Given the description of an element on the screen output the (x, y) to click on. 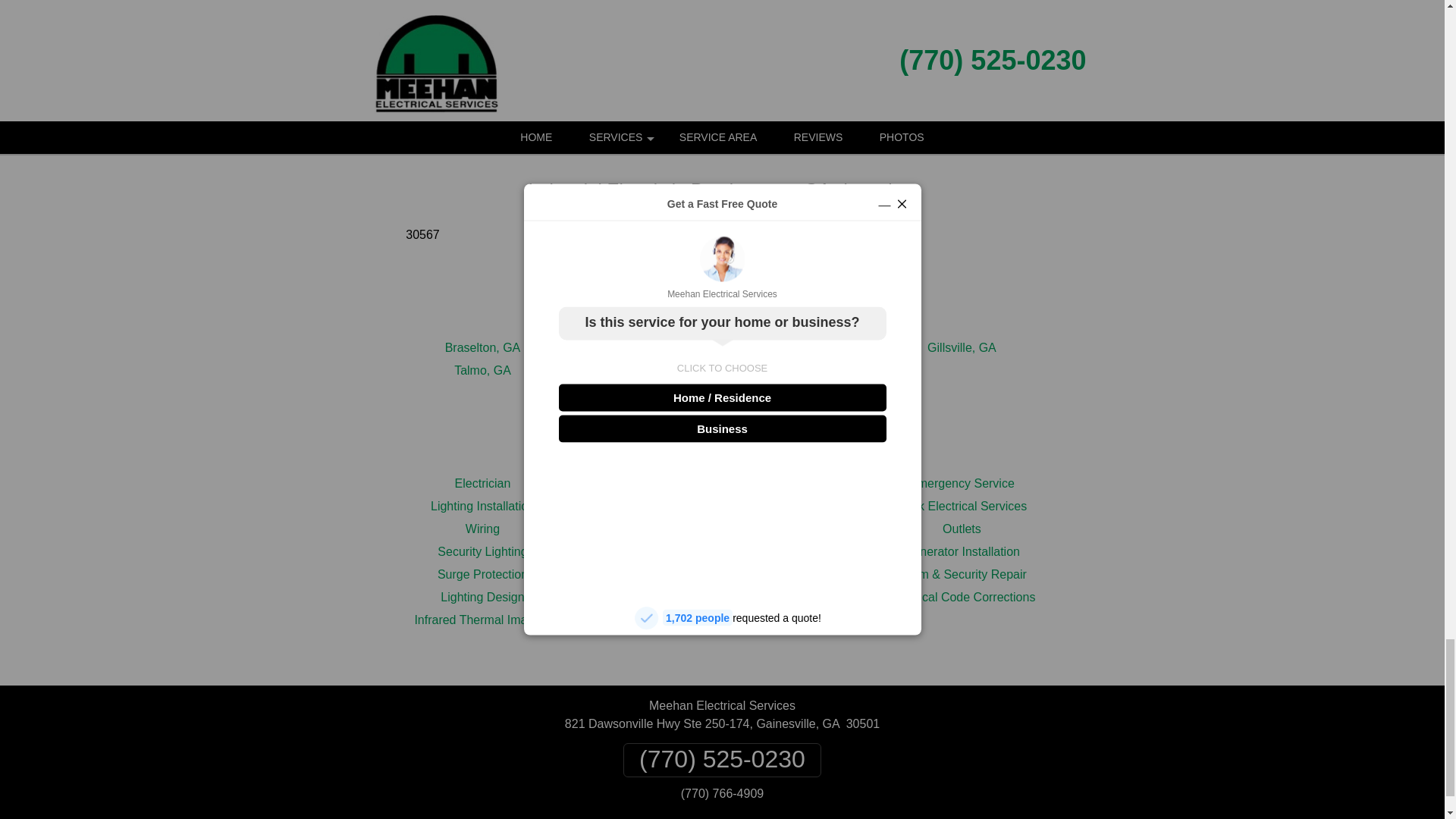
Braselton, GA (483, 347)
Houzz (804, 103)
Google (694, 103)
Gainesville, GA (720, 347)
Facebook (638, 103)
Yelp (749, 103)
